Given the description of an element on the screen output the (x, y) to click on. 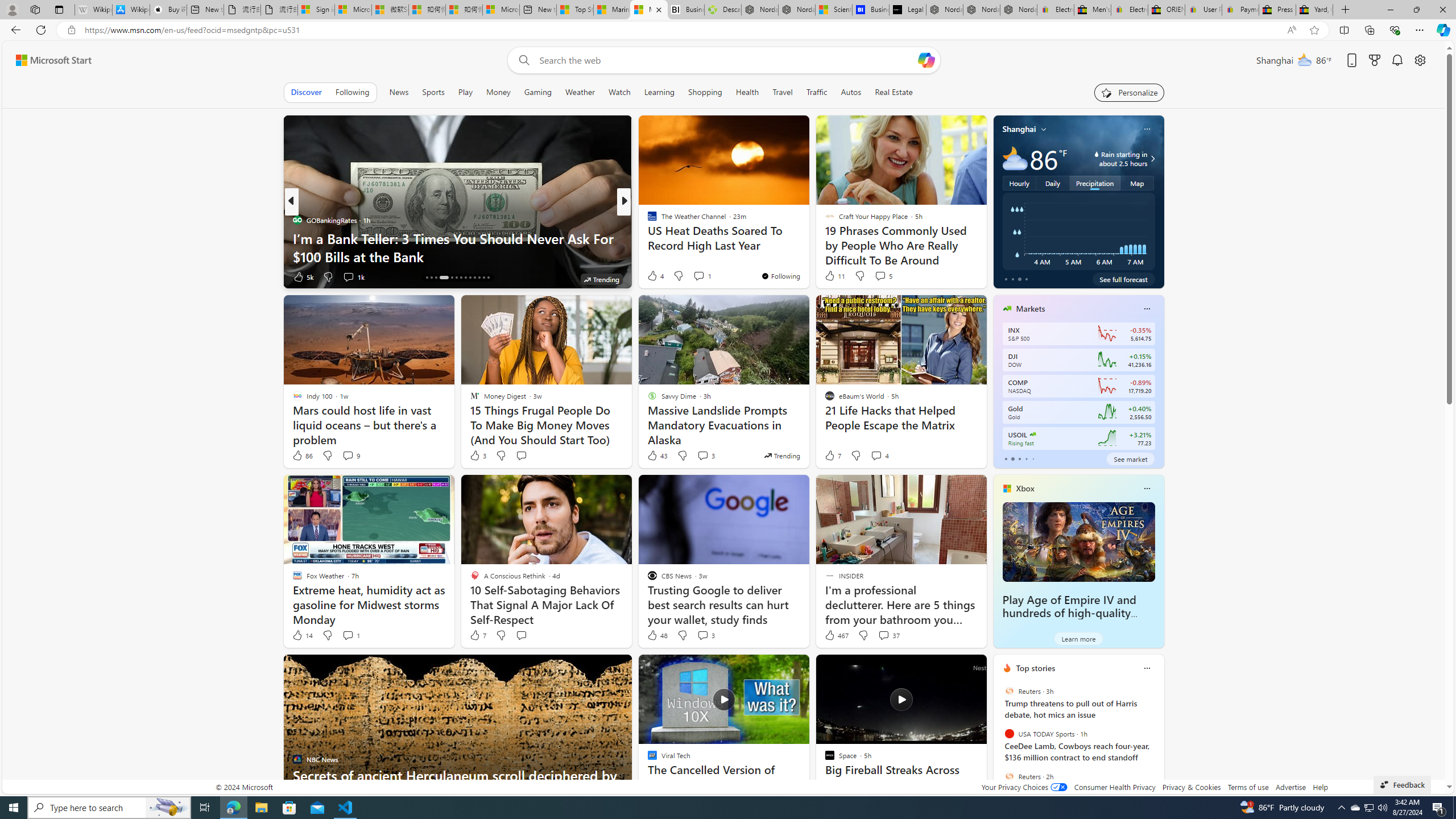
Top stories (1035, 668)
View comments 11 Comment (707, 276)
Hide this story (952, 668)
5k Like (302, 276)
Weather (579, 92)
You're following The Weather Channel (780, 275)
View comments 339 Comment (709, 276)
View comments 9 Comment (347, 455)
View comments 1 Comment (350, 634)
Groovy Era (647, 238)
AutomationID: tab-18 (451, 277)
View comments 53 Comment (707, 276)
Notifications (1397, 60)
AutomationID: tab-23 (474, 277)
